Given the description of an element on the screen output the (x, y) to click on. 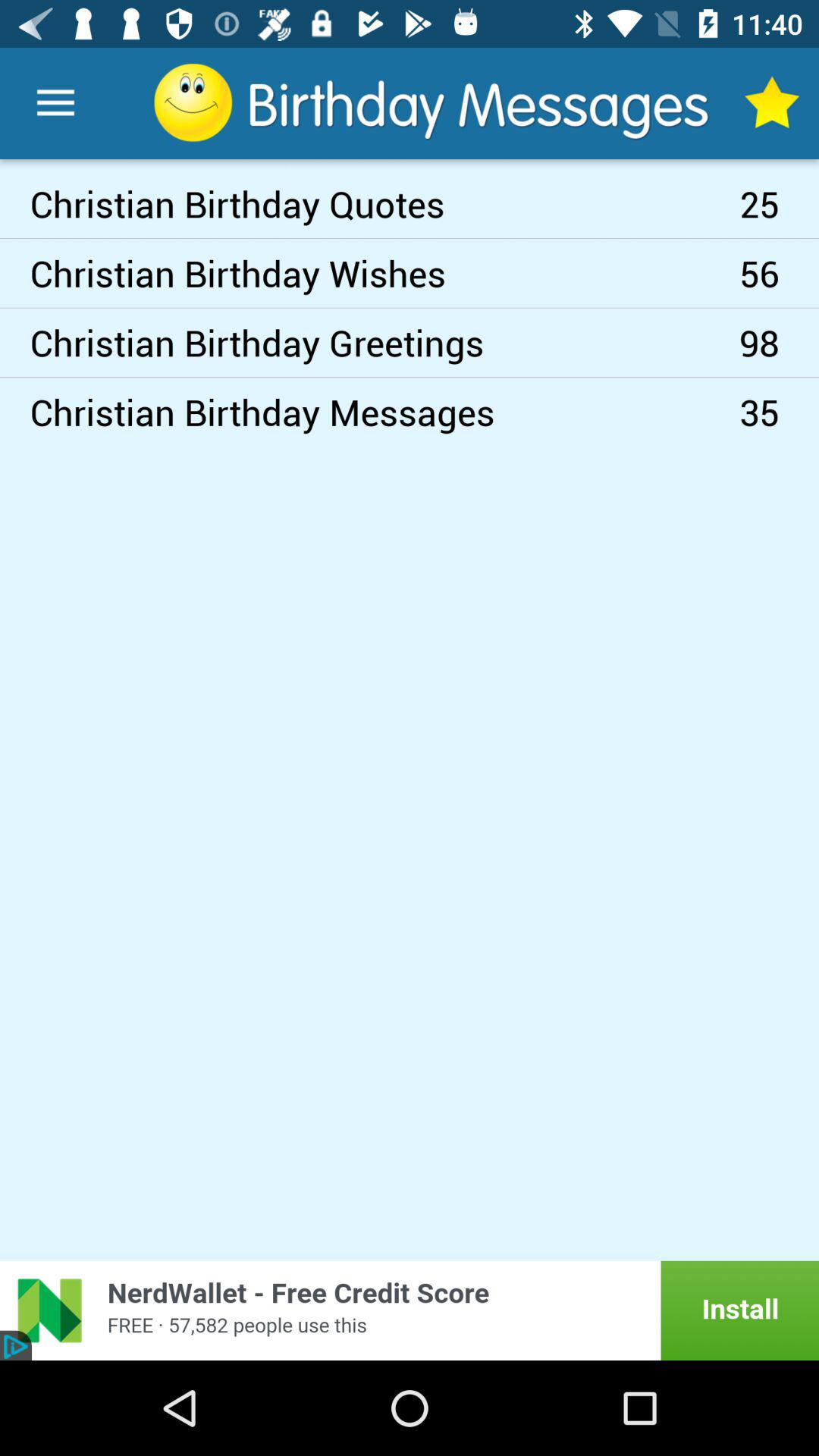
scroll to 56 (779, 272)
